Given the description of an element on the screen output the (x, y) to click on. 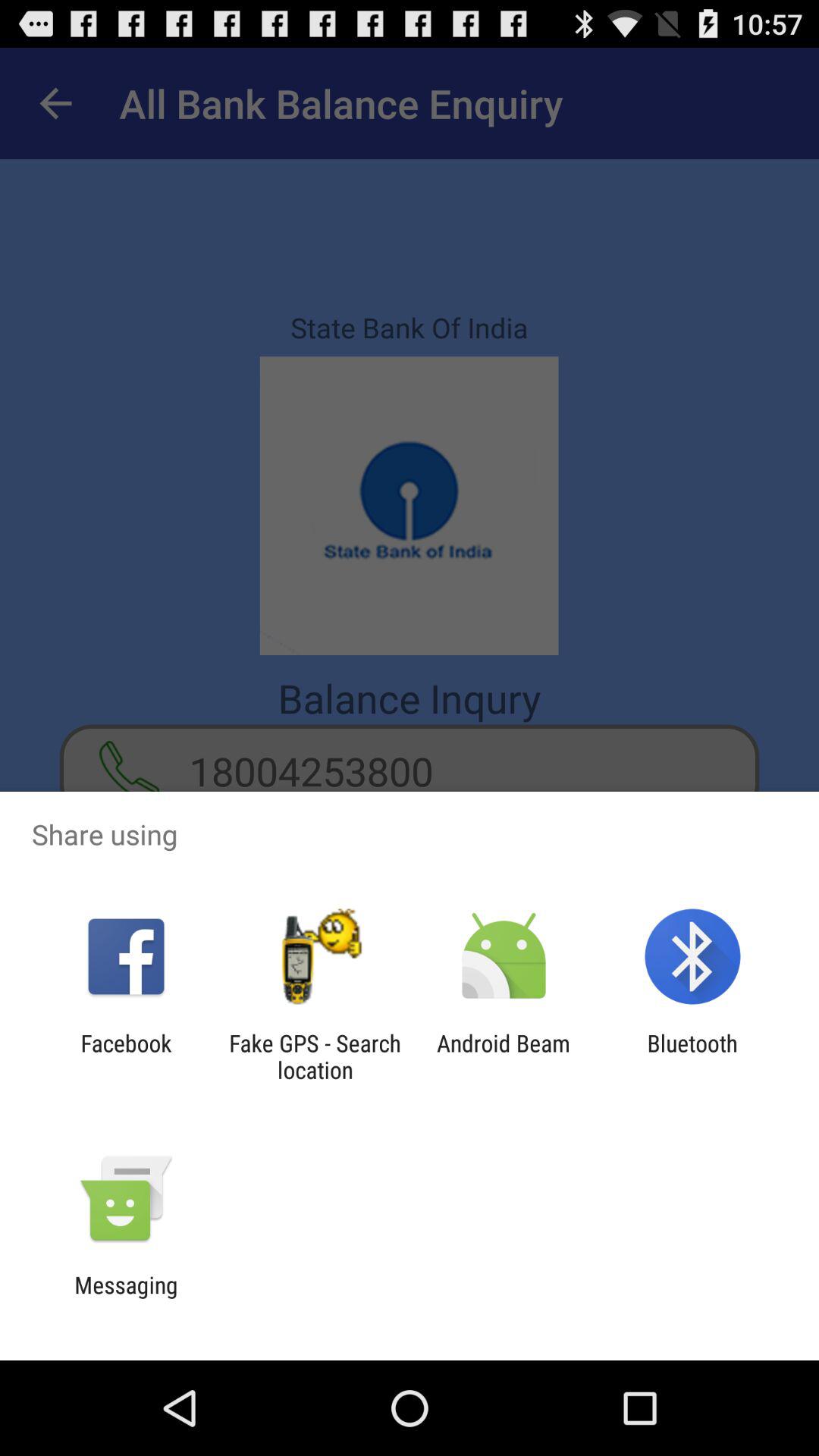
jump until facebook icon (125, 1056)
